Given the description of an element on the screen output the (x, y) to click on. 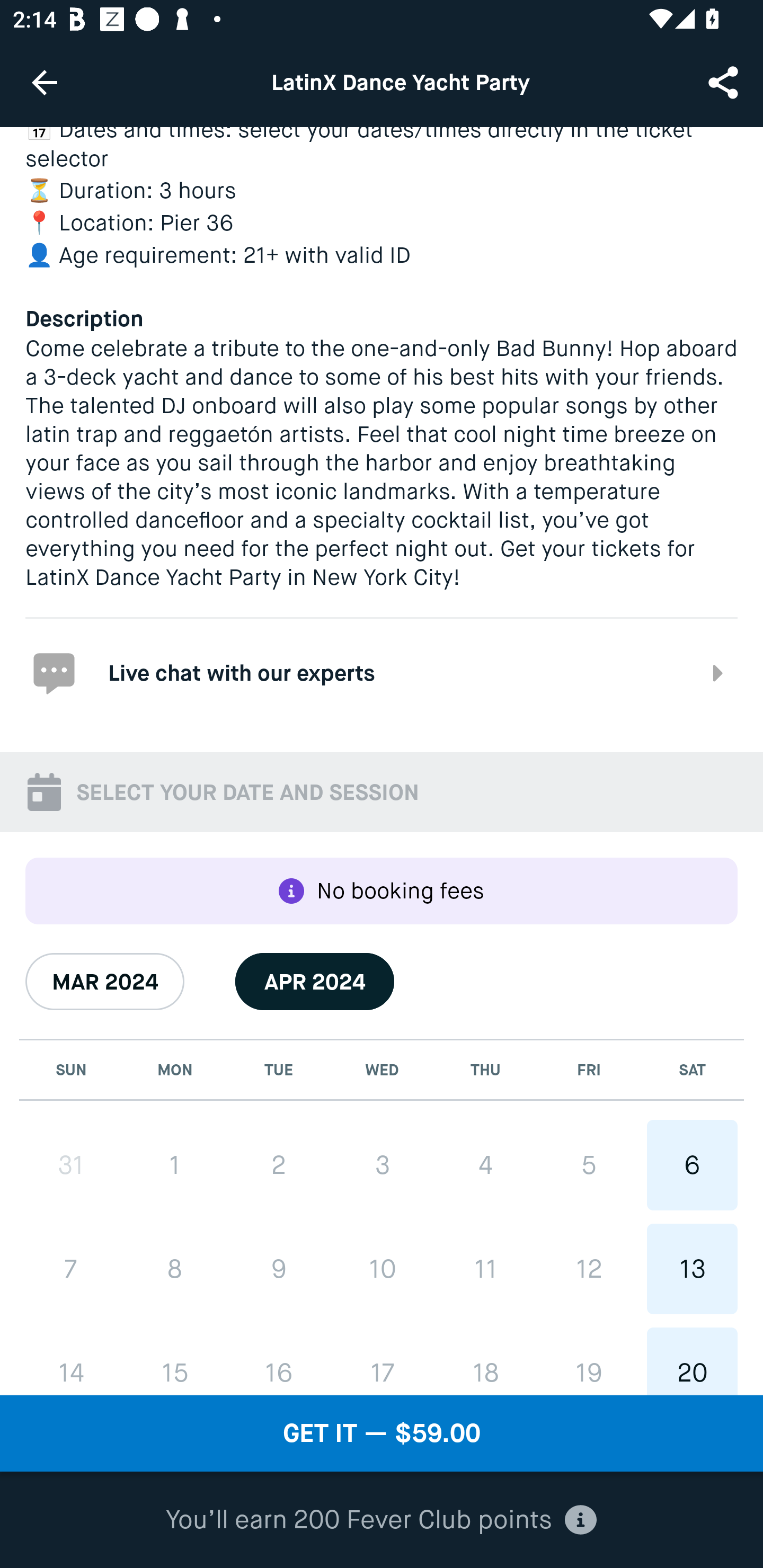
Navigate up (44, 82)
Share (724, 81)
Live chat with our experts (381, 672)
MAR 2024 (104, 981)
APR 2024 (314, 981)
31 (70, 1164)
1 (174, 1164)
2 (278, 1164)
3 (382, 1164)
4 (485, 1164)
5 (588, 1164)
6 (692, 1164)
7 (70, 1269)
8 (174, 1269)
9 (278, 1269)
10 (382, 1268)
11 (485, 1268)
12 (588, 1268)
13 (692, 1268)
14 (70, 1361)
15 (174, 1361)
16 (278, 1361)
17 (382, 1361)
18 (485, 1361)
19 (588, 1361)
20 (692, 1361)
GET IT — $59.00 (381, 1433)
You’ll earn 200 Fever Club points (380, 1519)
